Given the description of an element on the screen output the (x, y) to click on. 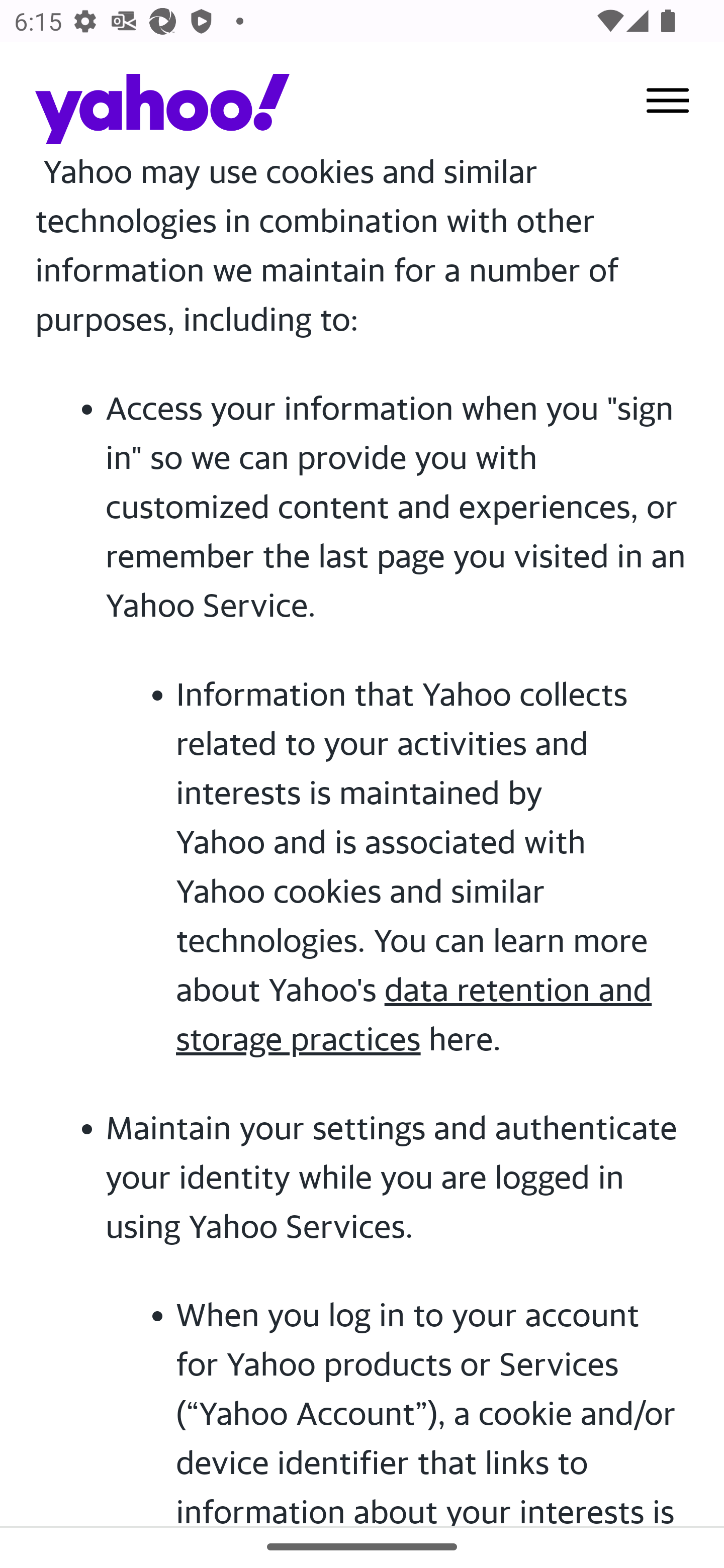
data retention and storage practices (413, 1013)
